Given the description of an element on the screen output the (x, y) to click on. 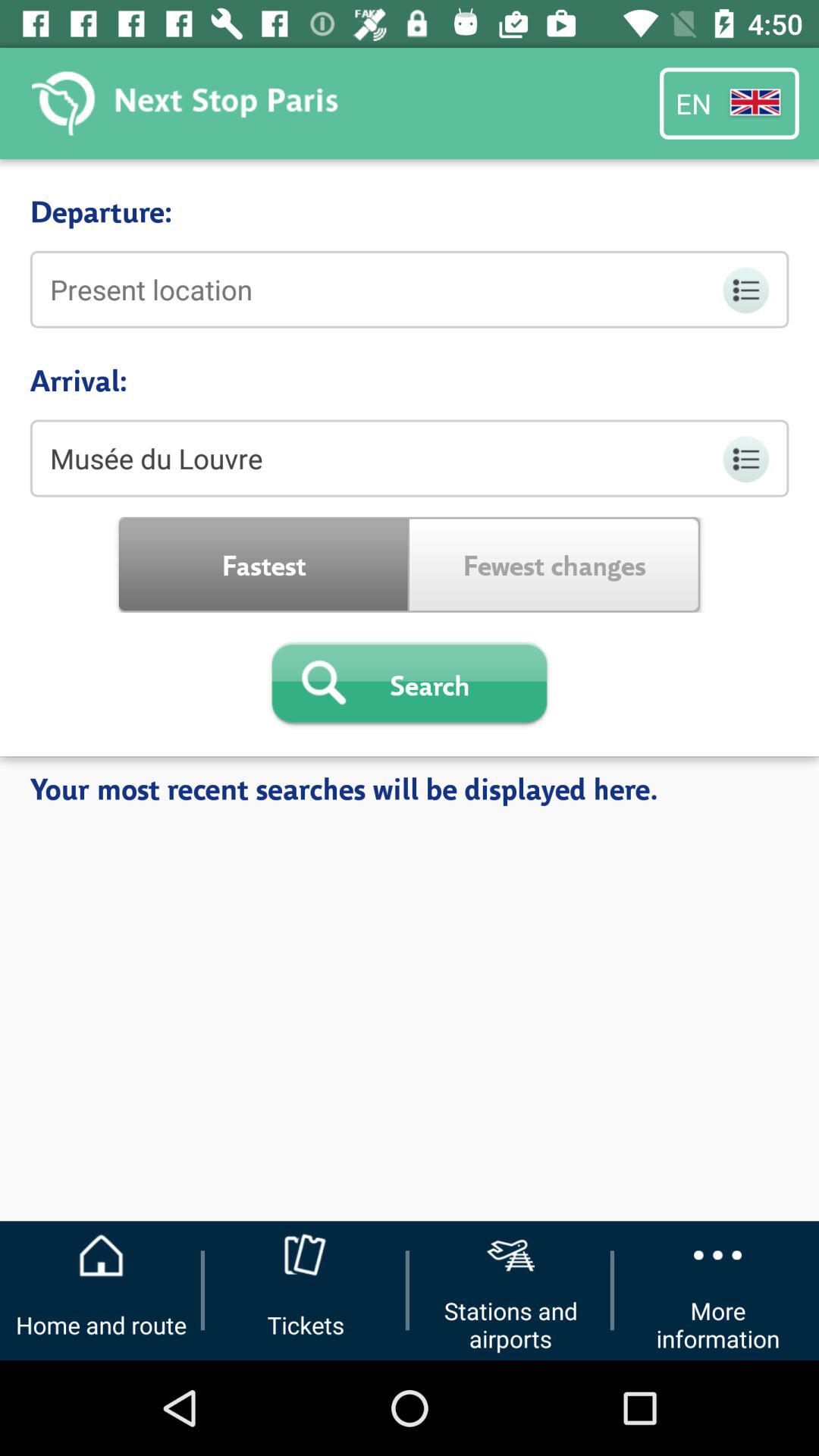
press icon on the right (554, 564)
